Given the description of an element on the screen output the (x, y) to click on. 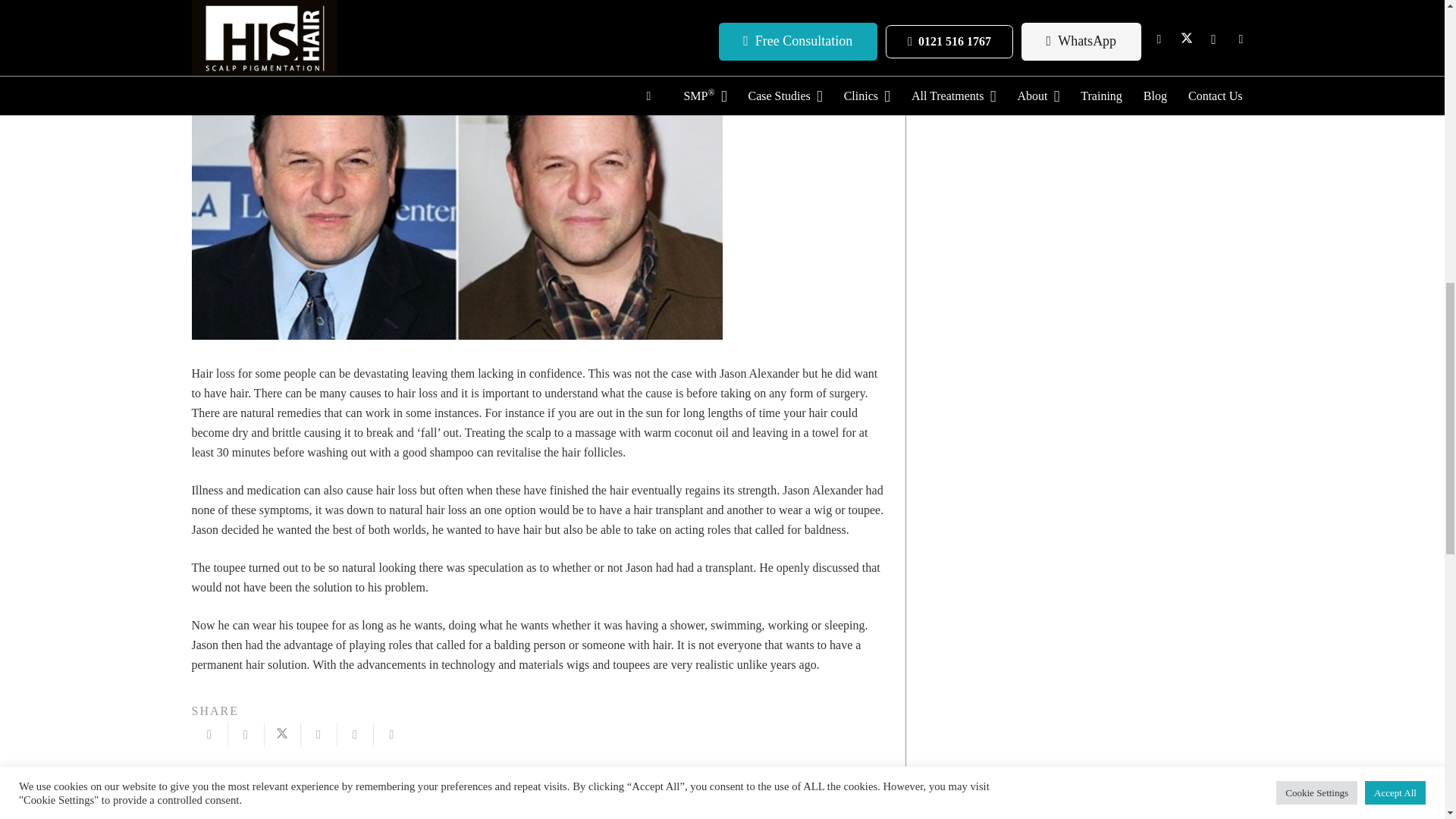
Tweet this (281, 734)
A hair transplant for Calum Best (364, 796)
Pin this (354, 734)
Share this (245, 734)
Email this (208, 734)
Share this (317, 734)
Share this (390, 734)
